Given the description of an element on the screen output the (x, y) to click on. 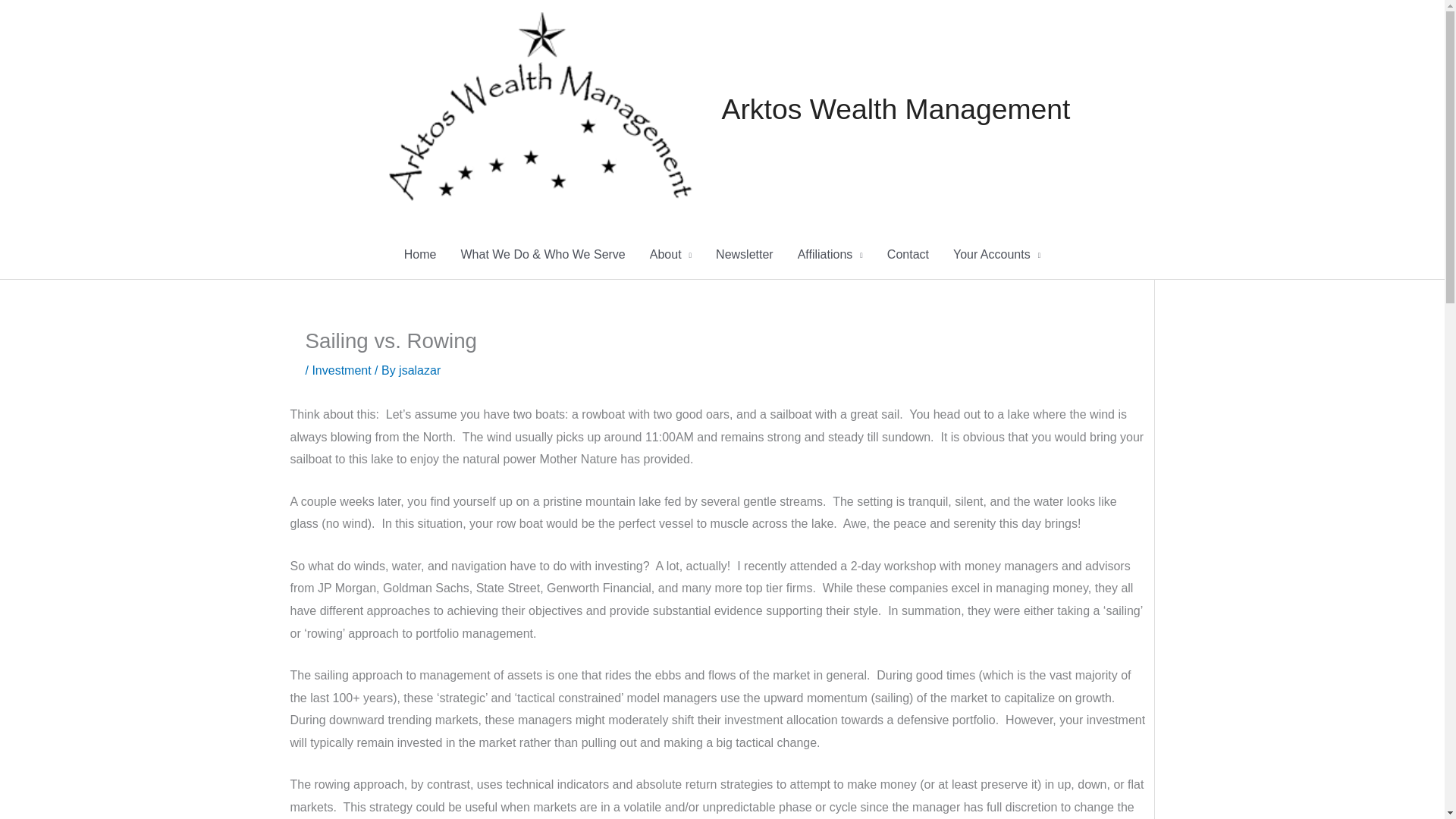
Investment (341, 369)
View all posts by jsalazar (419, 369)
About (670, 254)
Your Accounts (996, 254)
Arktos Wealth Management (896, 109)
Home (419, 254)
Newsletter (744, 254)
jsalazar (419, 369)
Contact (907, 254)
Affiliations (830, 254)
